Given the description of an element on the screen output the (x, y) to click on. 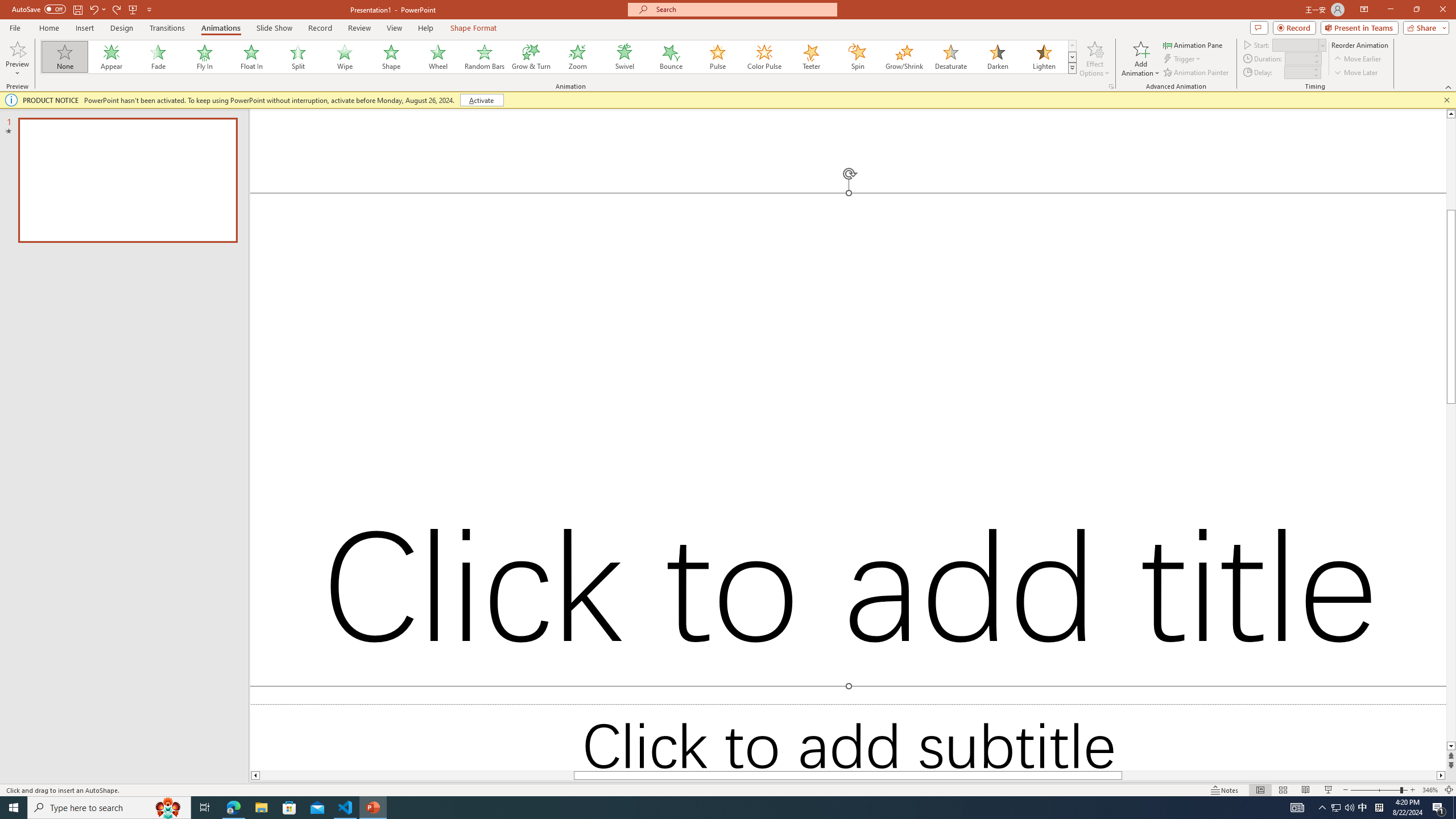
Animation Pane (1193, 44)
Animation Styles (1071, 67)
Add Animation (1141, 58)
Bounce (670, 56)
Wipe (344, 56)
Appear (111, 56)
Darken (997, 56)
Spin (857, 56)
